Given the description of an element on the screen output the (x, y) to click on. 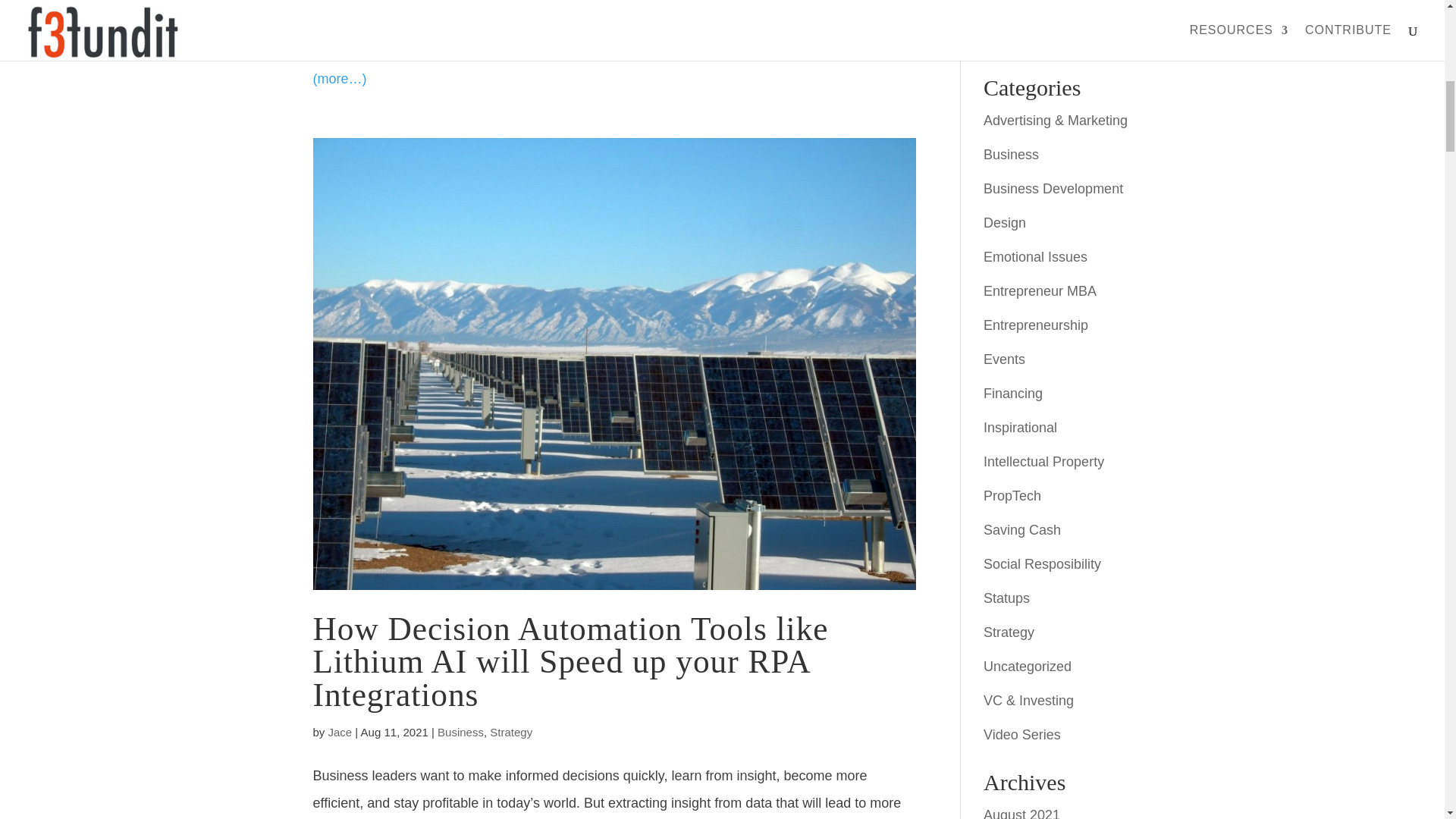
Jace (340, 731)
Business (460, 731)
Strategy (510, 731)
Posts by Jace (340, 731)
